Given the description of an element on the screen output the (x, y) to click on. 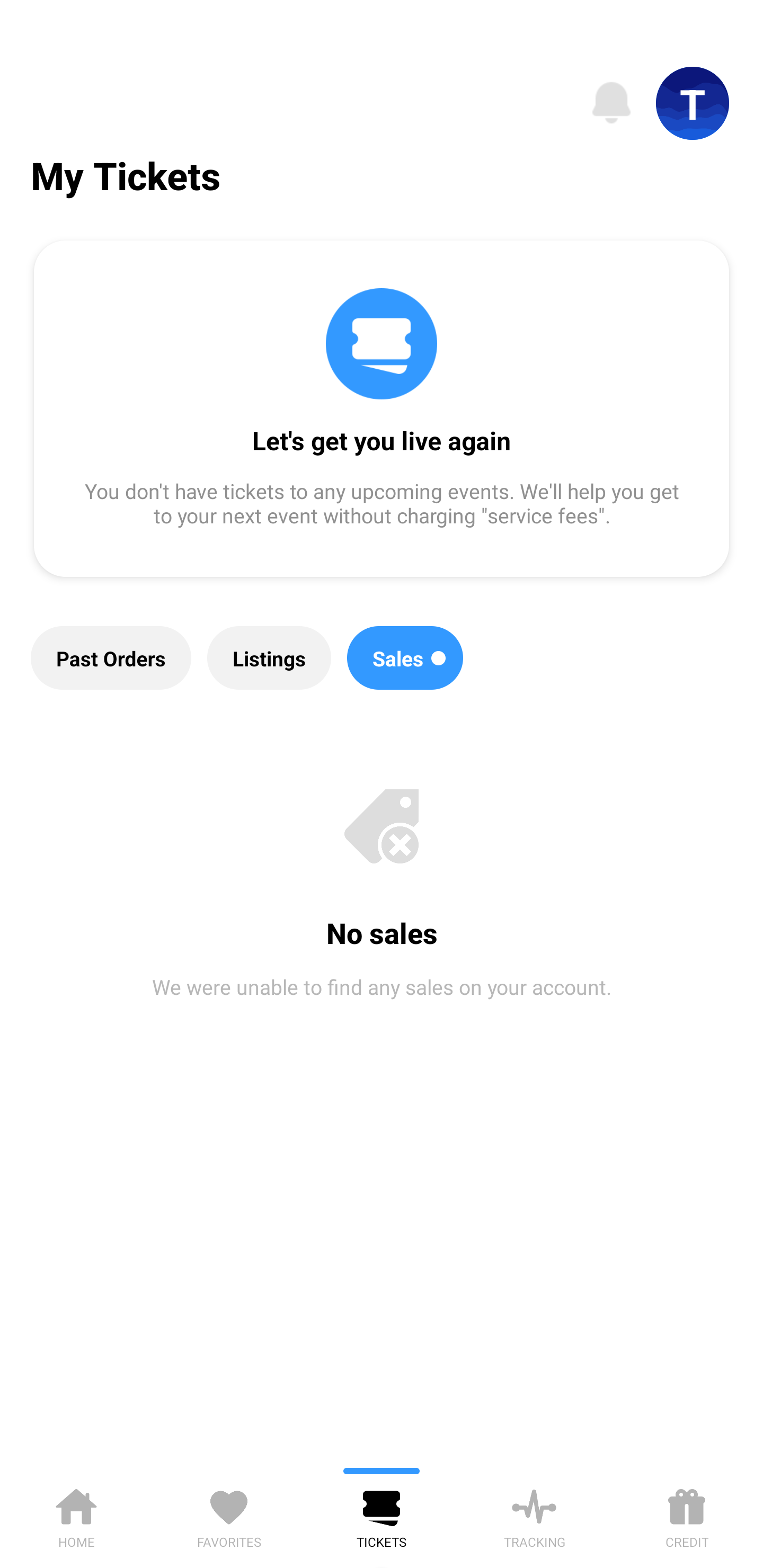
T (692, 103)
Past Orders (110, 657)
Listings (269, 657)
Sales (405, 657)
HOME (76, 1515)
FAVORITES (228, 1515)
TICKETS (381, 1515)
TRACKING (533, 1515)
CREDIT (686, 1515)
